Given the description of an element on the screen output the (x, y) to click on. 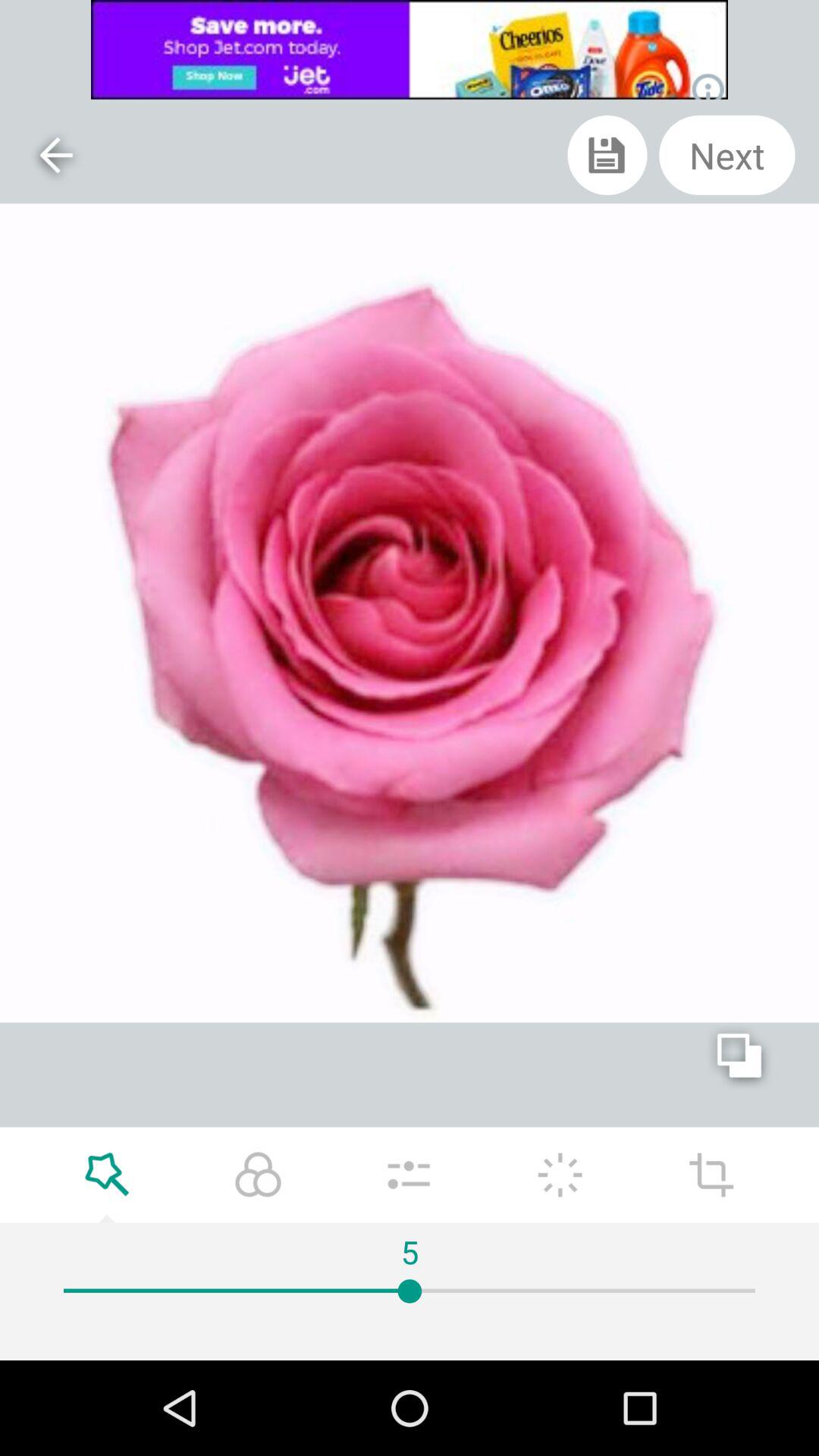
edit image (559, 1174)
